Given the description of an element on the screen output the (x, y) to click on. 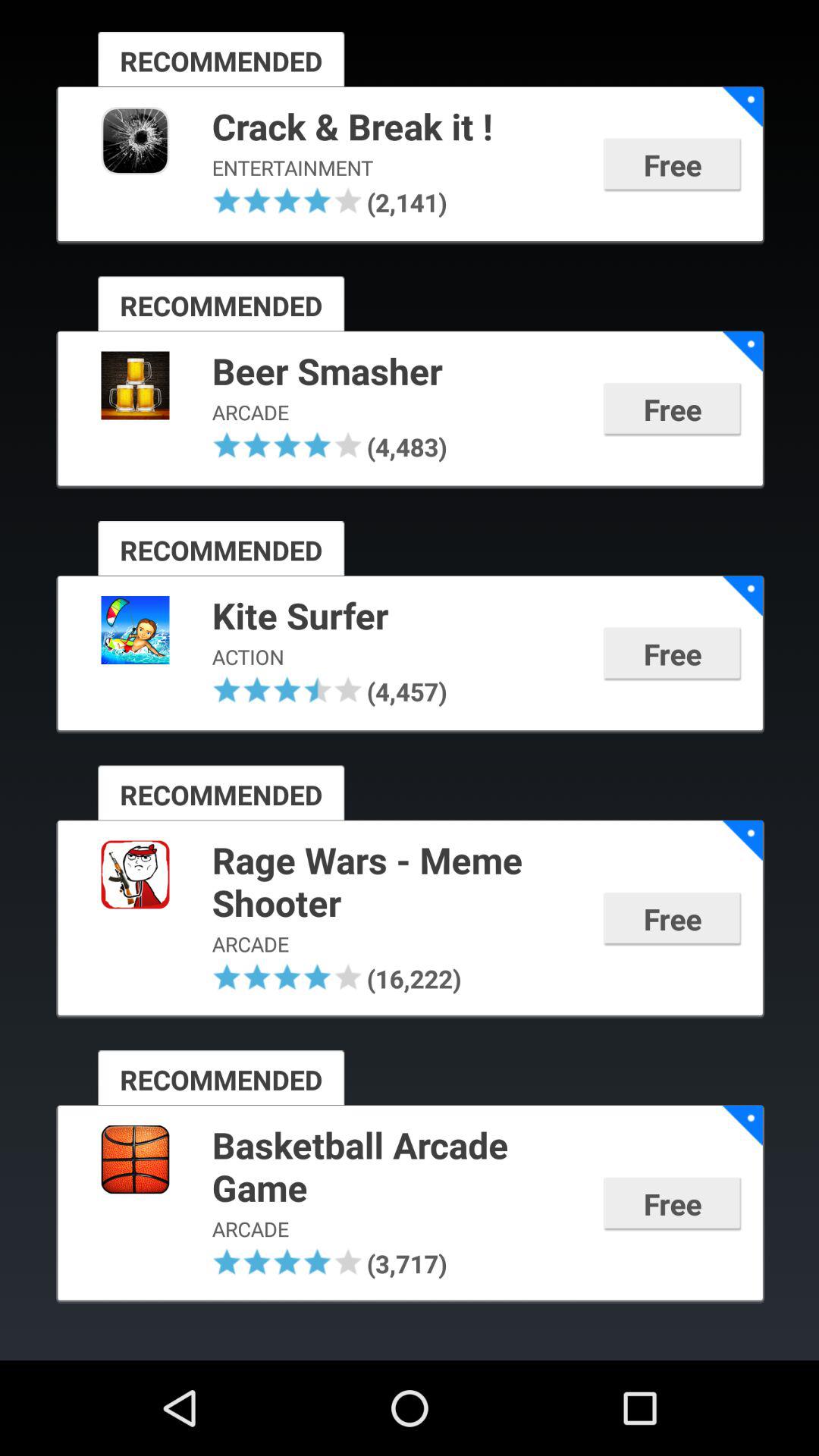
select icon below arcade item (227, 976)
